Given the description of an element on the screen output the (x, y) to click on. 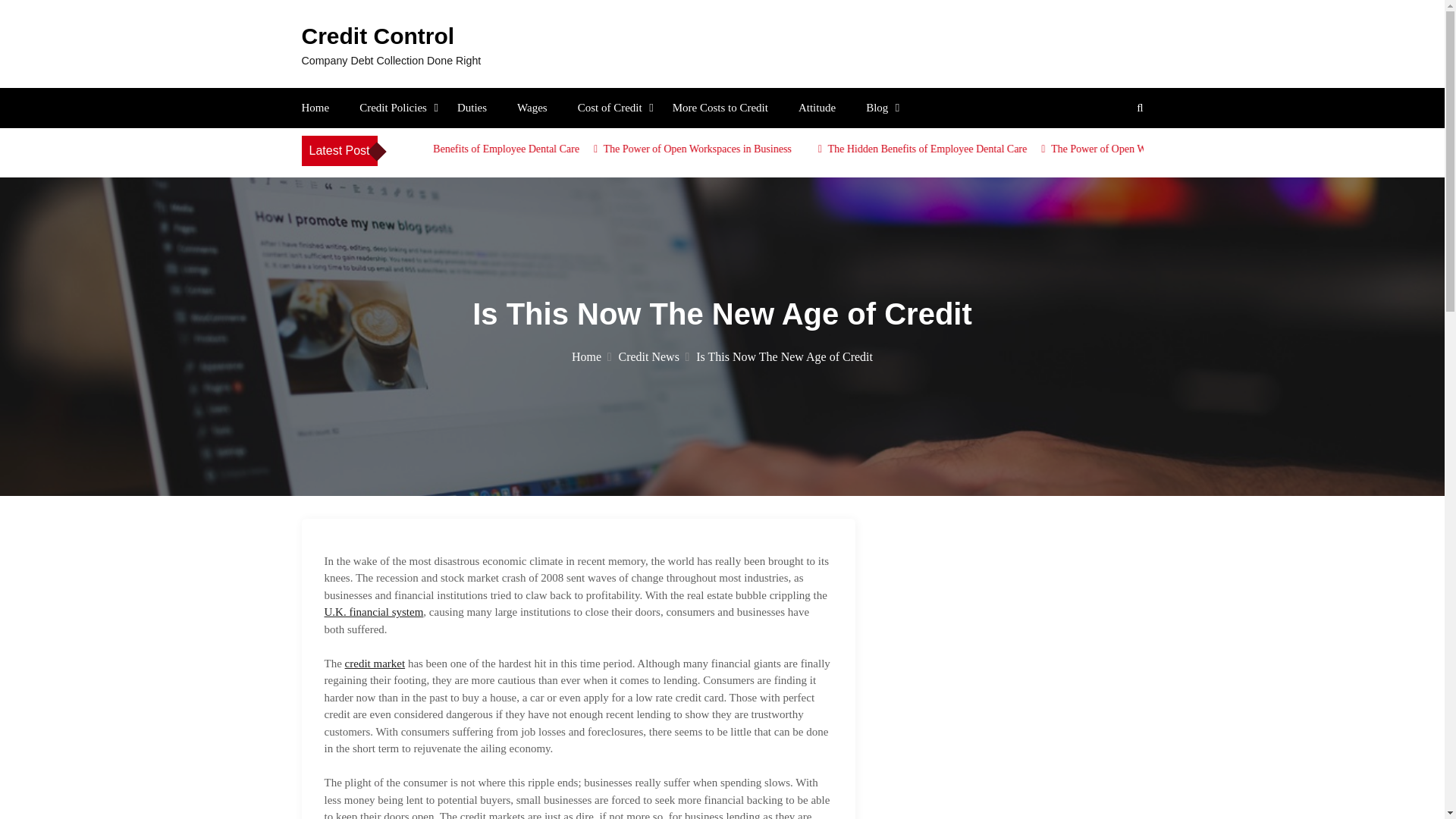
Home (315, 107)
Wages (531, 107)
credit market (375, 663)
Blog (877, 107)
The Power of Open Workspaces in Business (1205, 148)
Attitude (816, 107)
Cost of Credit (610, 107)
Home (591, 356)
The Hidden Benefits of Employee Dental Care (540, 148)
Credit Policies (392, 107)
